Given the description of an element on the screen output the (x, y) to click on. 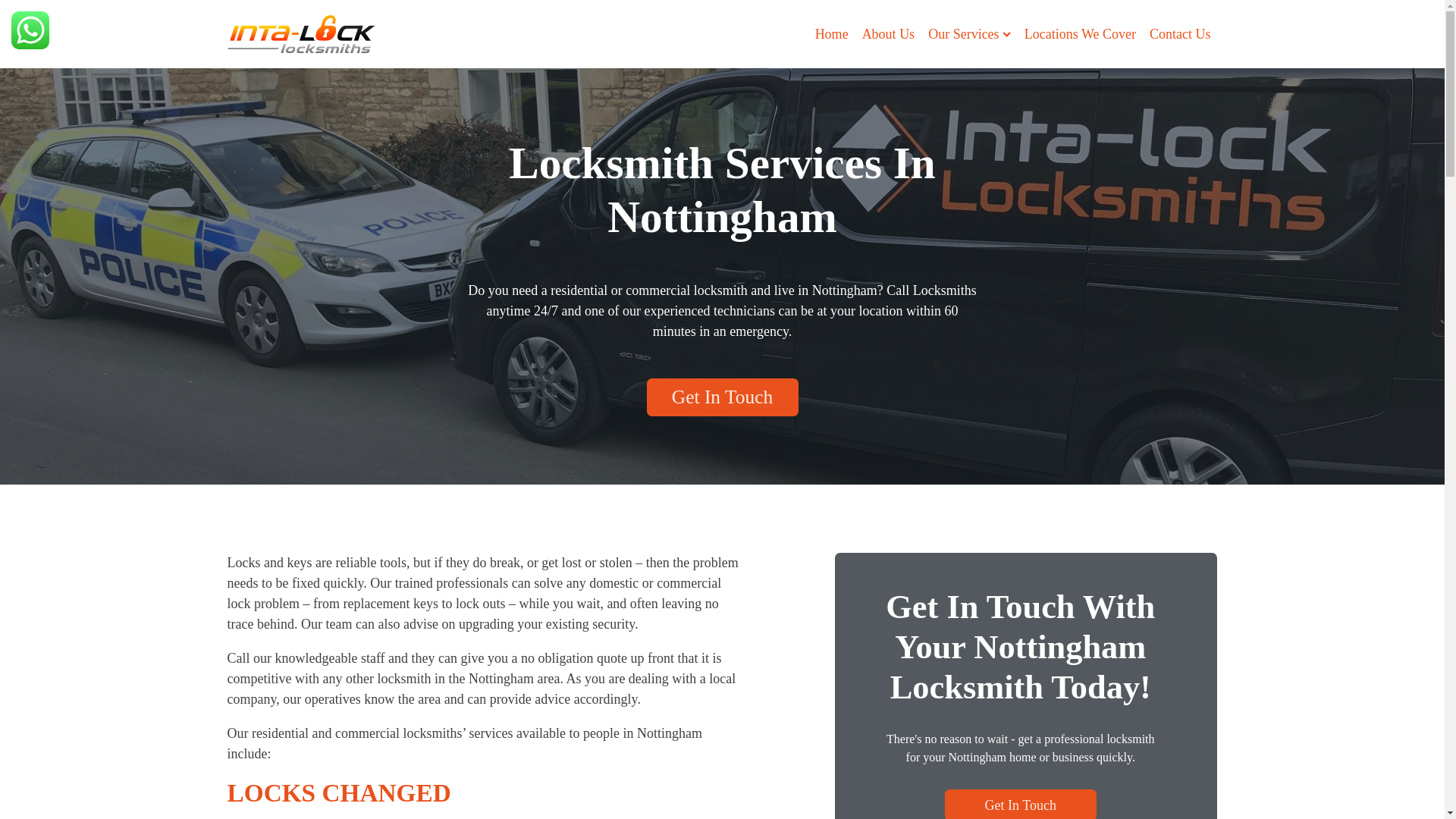
Locations We Cover (1080, 34)
Get In Touch (1020, 804)
Get In Touch (721, 396)
Home (831, 34)
About Us (888, 34)
Contact Us (1180, 34)
Our Services (969, 34)
